Given the description of an element on the screen output the (x, y) to click on. 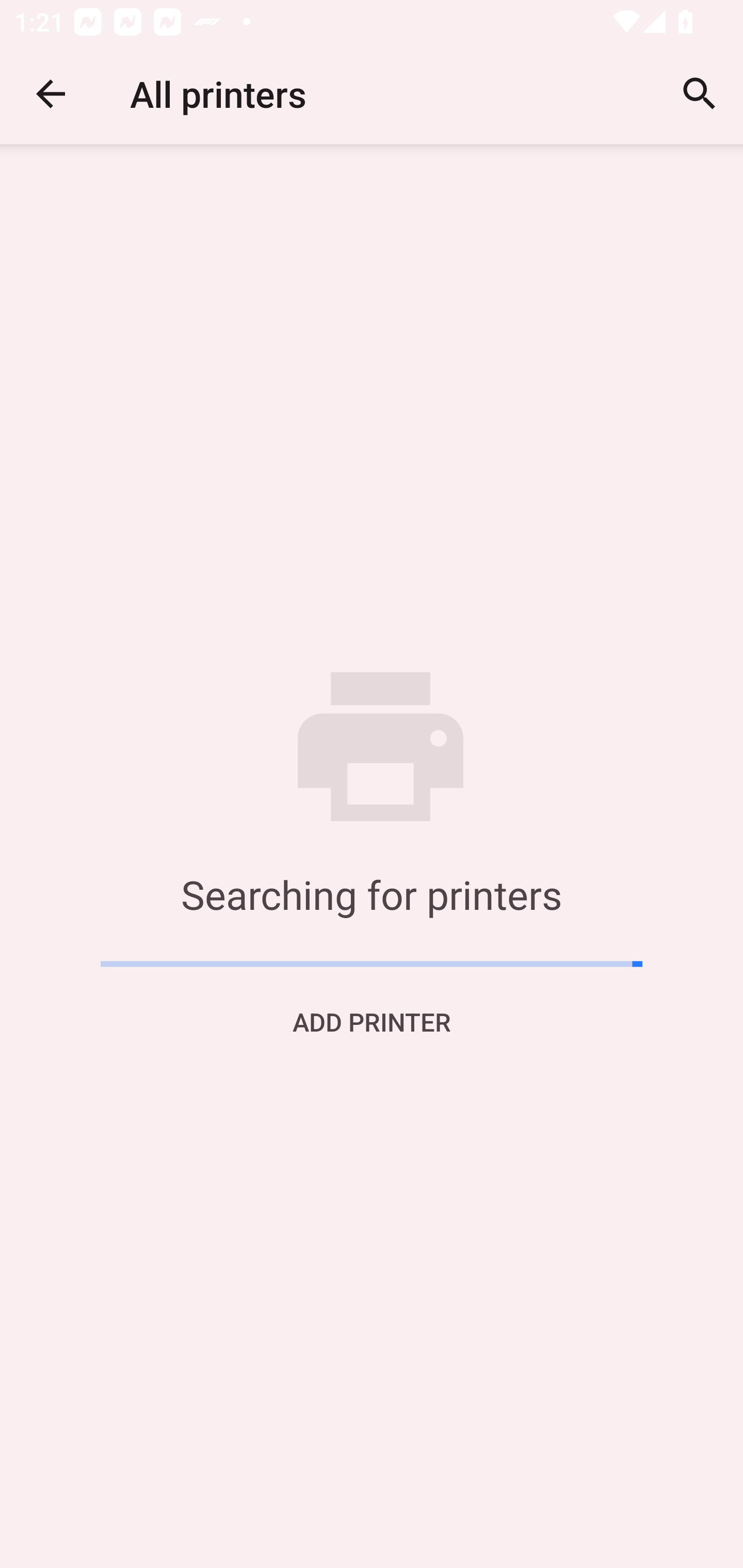
Navigate up (50, 93)
Search (699, 93)
ADD PRINTER (371, 1021)
